Given the description of an element on the screen output the (x, y) to click on. 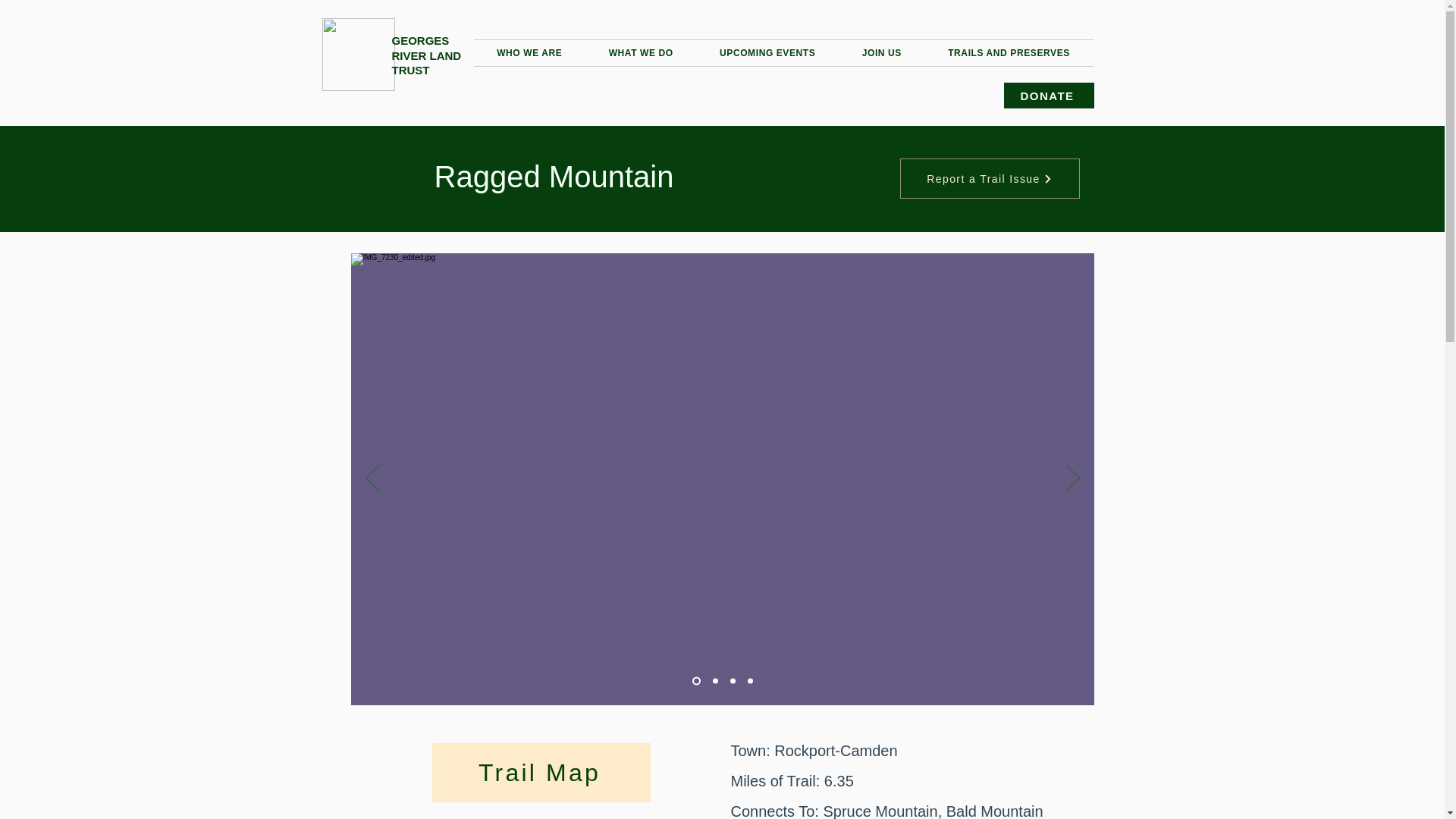
Report a Trail Issue (988, 178)
Trail Map (541, 772)
WHO WE ARE (529, 52)
TRAILS AND PRESERVES (1008, 52)
GEORGES RIVER LAND TRUST (426, 55)
DONATE (1049, 95)
UPCOMING EVENTS (766, 52)
Spruce Mountain (879, 811)
JOIN US (881, 52)
WHAT WE DO (640, 52)
